Given the description of an element on the screen output the (x, y) to click on. 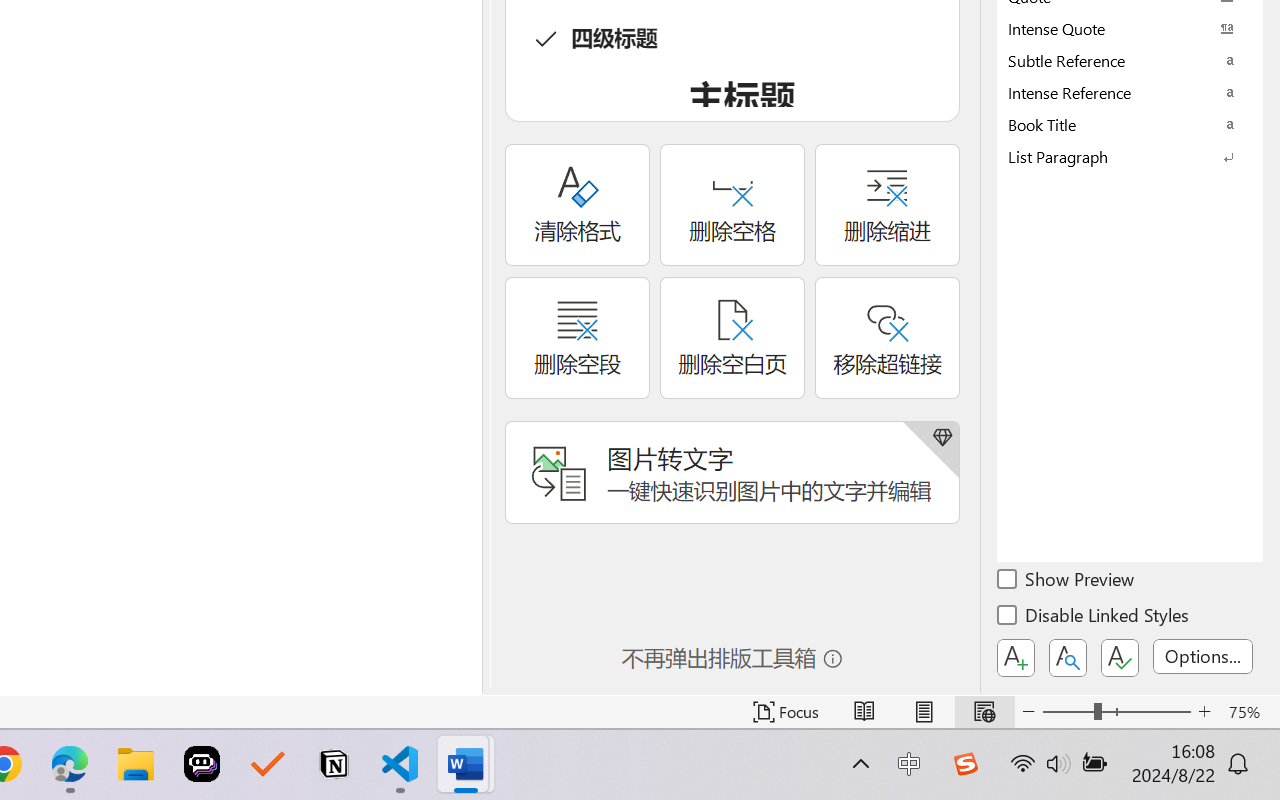
Focus  (786, 712)
